Given the description of an element on the screen output the (x, y) to click on. 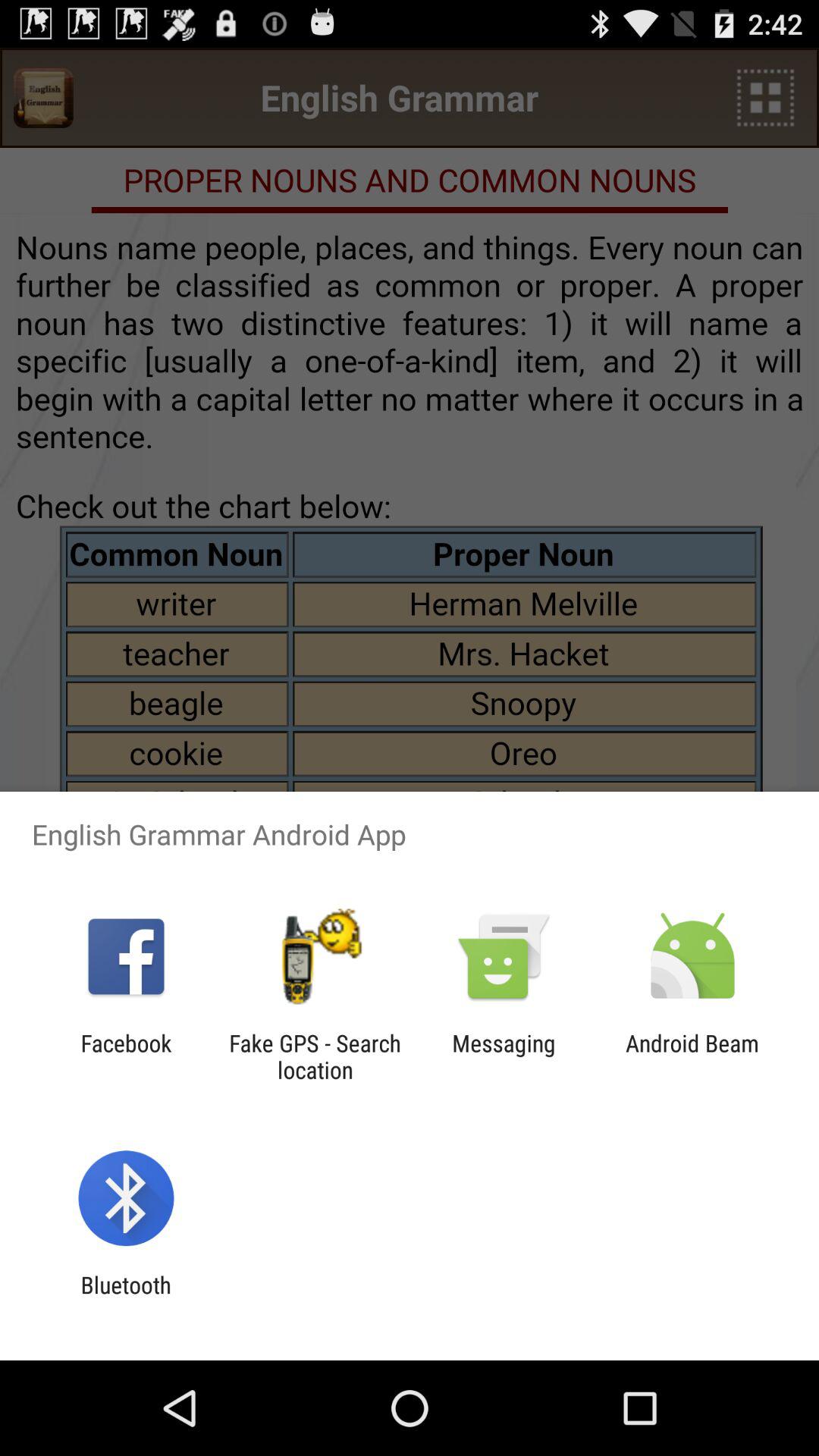
open app next to android beam app (503, 1056)
